Given the description of an element on the screen output the (x, y) to click on. 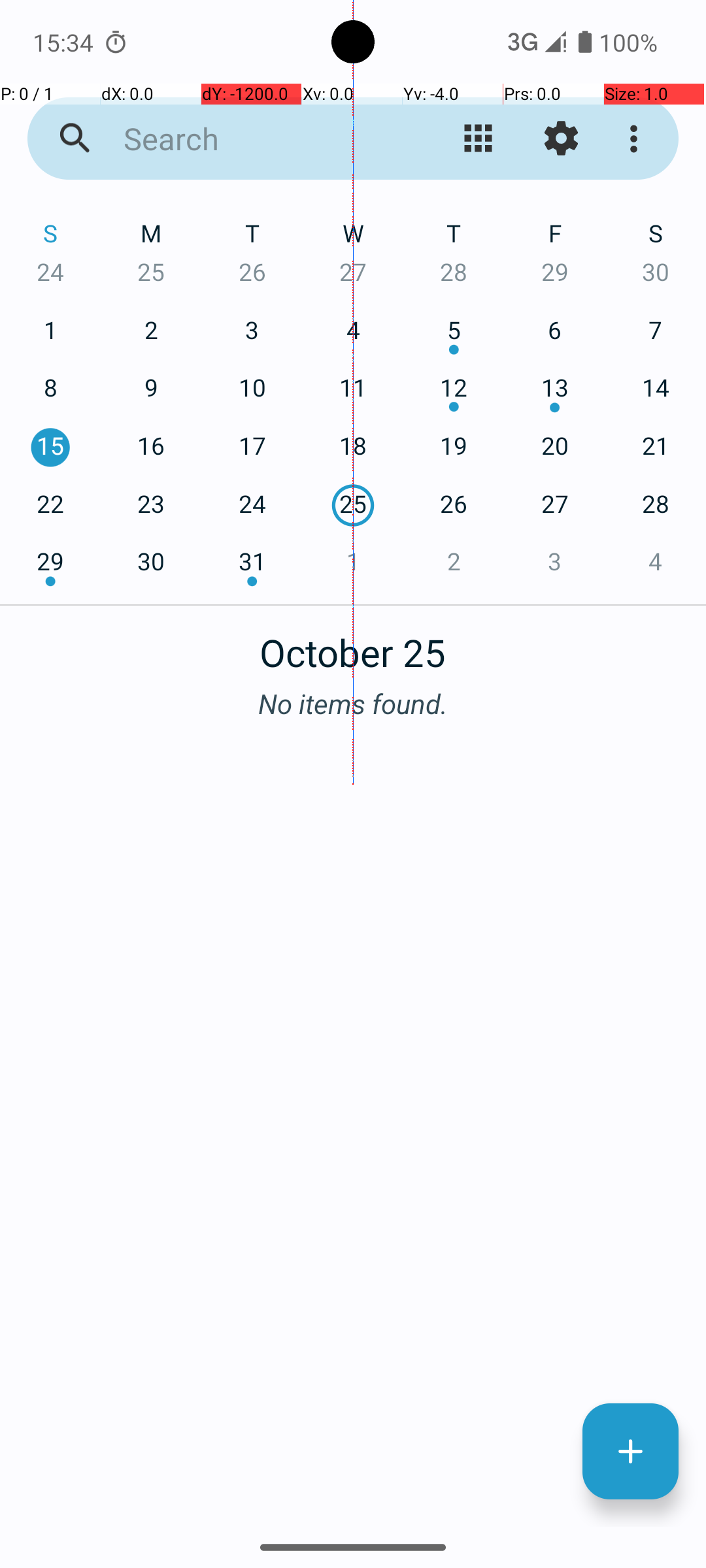
October 25 Element type: android.widget.TextView (352, 644)
